Given the description of an element on the screen output the (x, y) to click on. 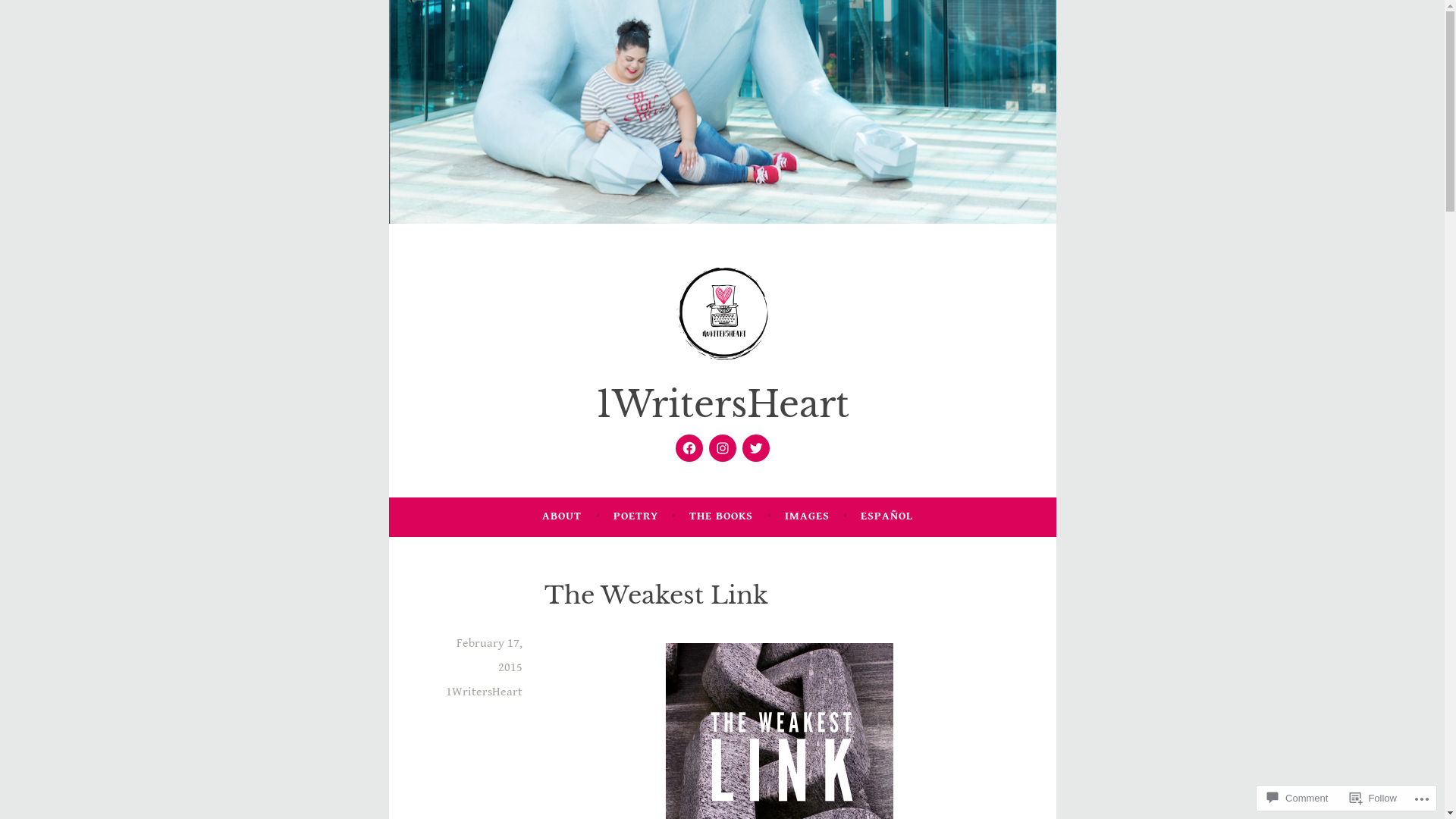
THE BOOKS Element type: text (721, 516)
Comment Element type: text (1297, 797)
IMAGES Element type: text (806, 516)
1WritersHeart Element type: text (722, 404)
1WritersHeart Element type: text (483, 691)
Follow Element type: text (1372, 797)
Search Element type: text (33, 15)
ABOUT Element type: text (561, 516)
POETRY Element type: text (635, 516)
February 17, 2015 Element type: text (489, 655)
